Given the description of an element on the screen output the (x, y) to click on. 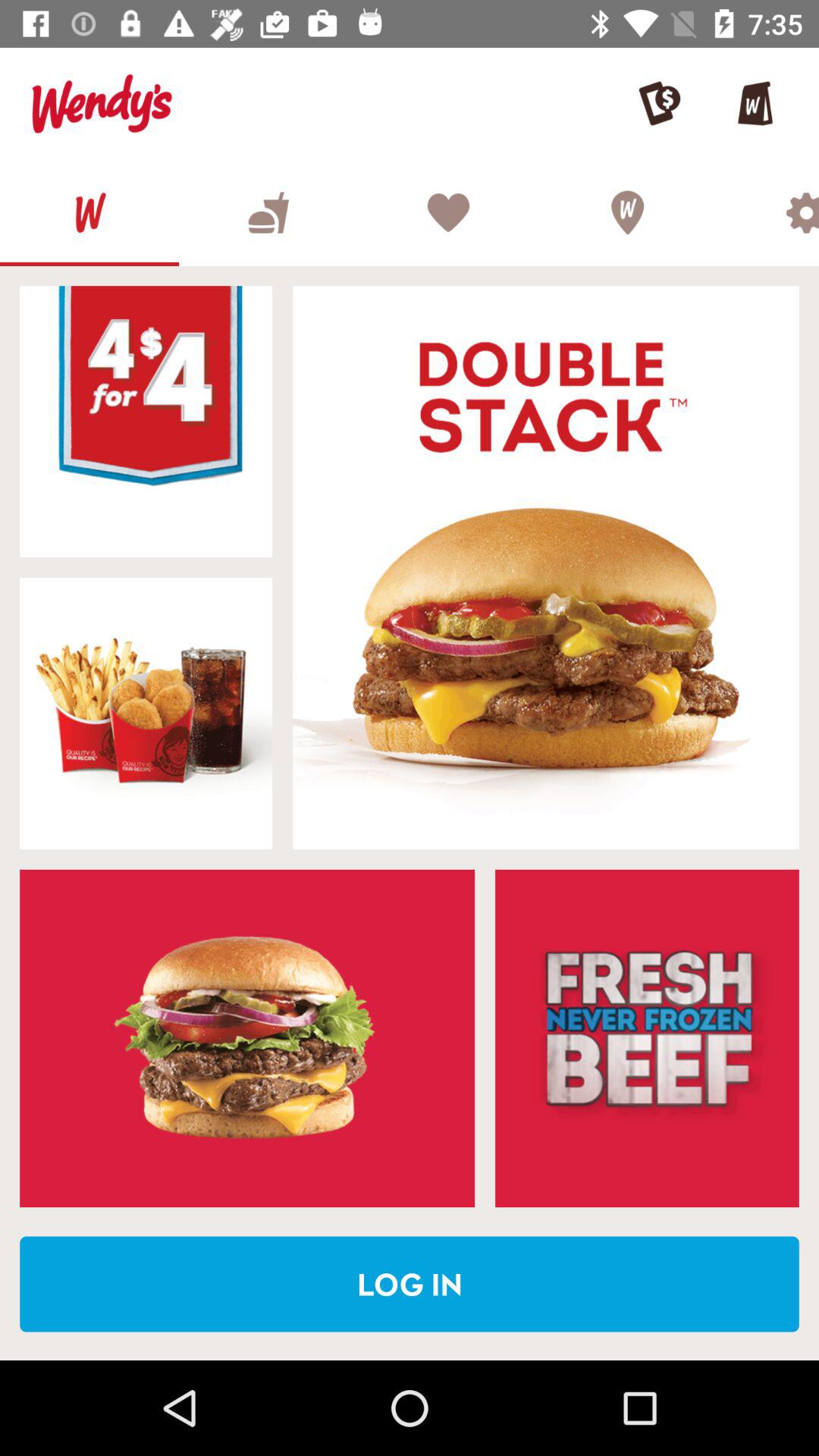
go to home page (89, 212)
